Given the description of an element on the screen output the (x, y) to click on. 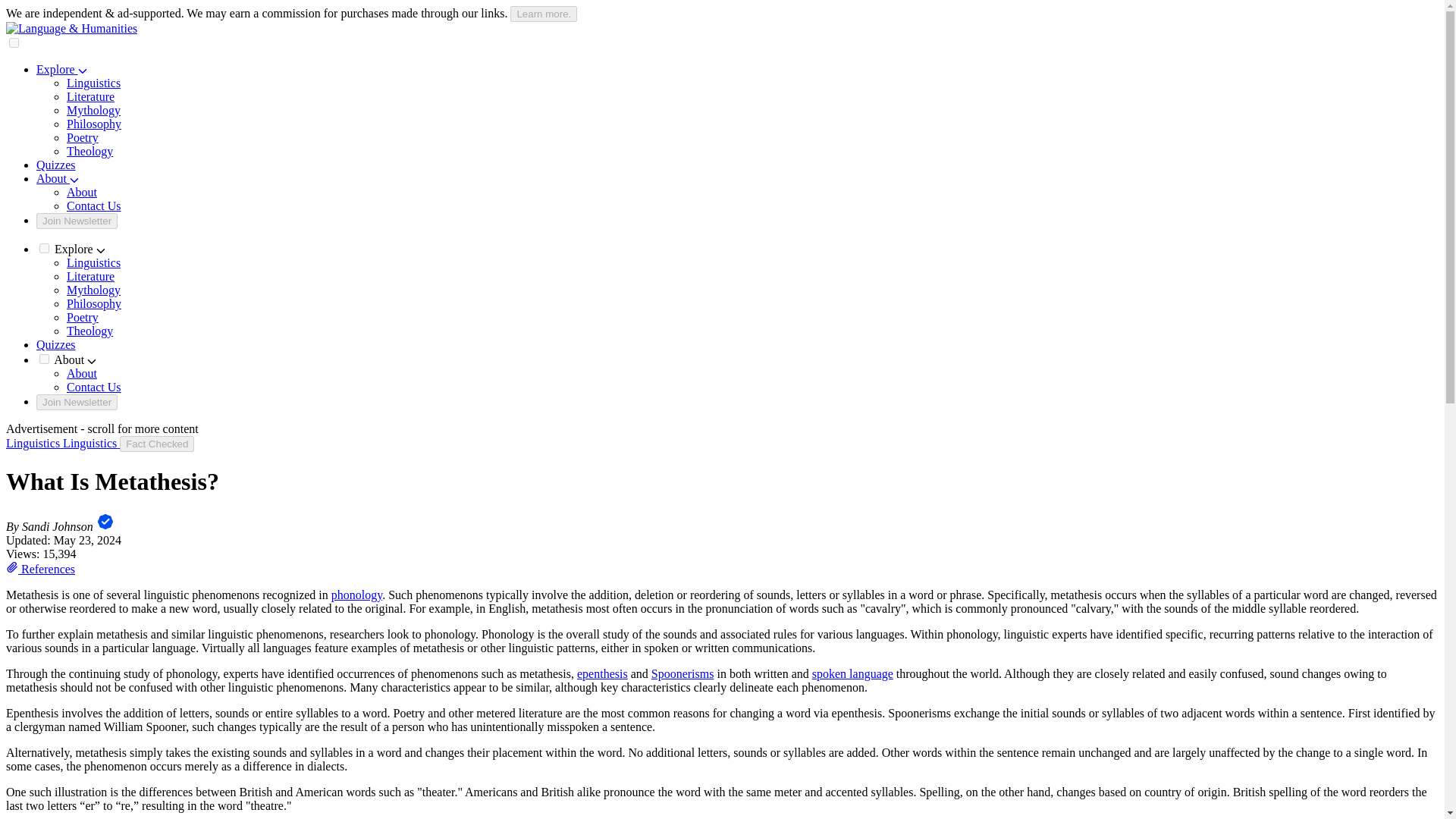
Fact Checked (156, 443)
Linguistics Linguistics (62, 442)
Quizzes (55, 164)
Linguistics (93, 262)
Join Newsletter (76, 401)
Theology (89, 330)
Learn more. (543, 13)
Poetry (82, 317)
epenthesis (601, 673)
Join Newsletter (76, 220)
